Given the description of an element on the screen output the (x, y) to click on. 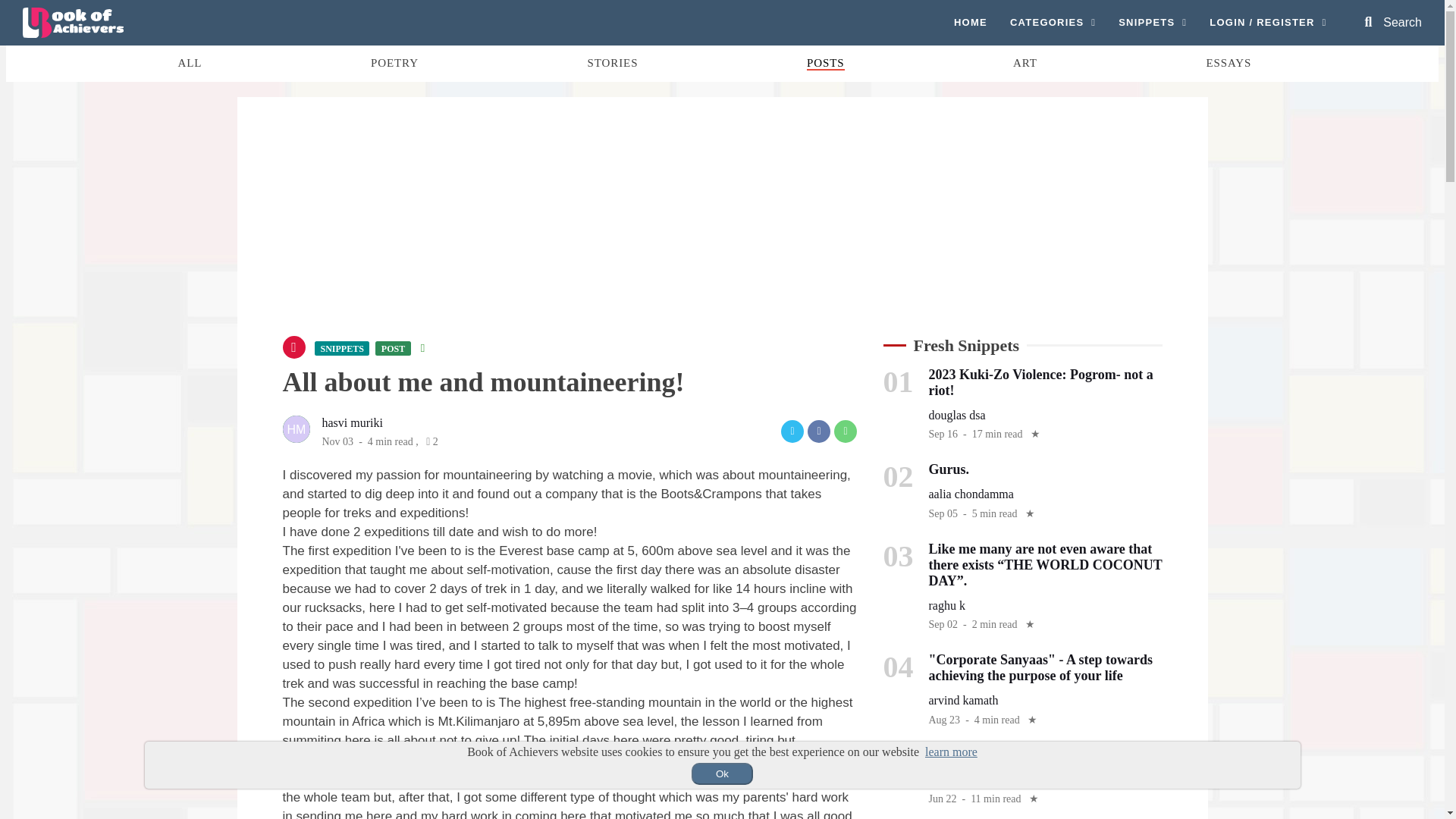
ART (1024, 62)
STORIES (613, 62)
Search (1393, 22)
SNIPPETS (341, 348)
Share on Twitter (791, 431)
Posts by hasvi muriki (351, 421)
SNIPPETS   (1152, 22)
POETRY (395, 62)
POSTS (825, 63)
POST (392, 348)
CATEGORIES   (1053, 22)
Share on Facebook (818, 431)
ALL (189, 62)
hasvi muriki (351, 421)
